Given the description of an element on the screen output the (x, y) to click on. 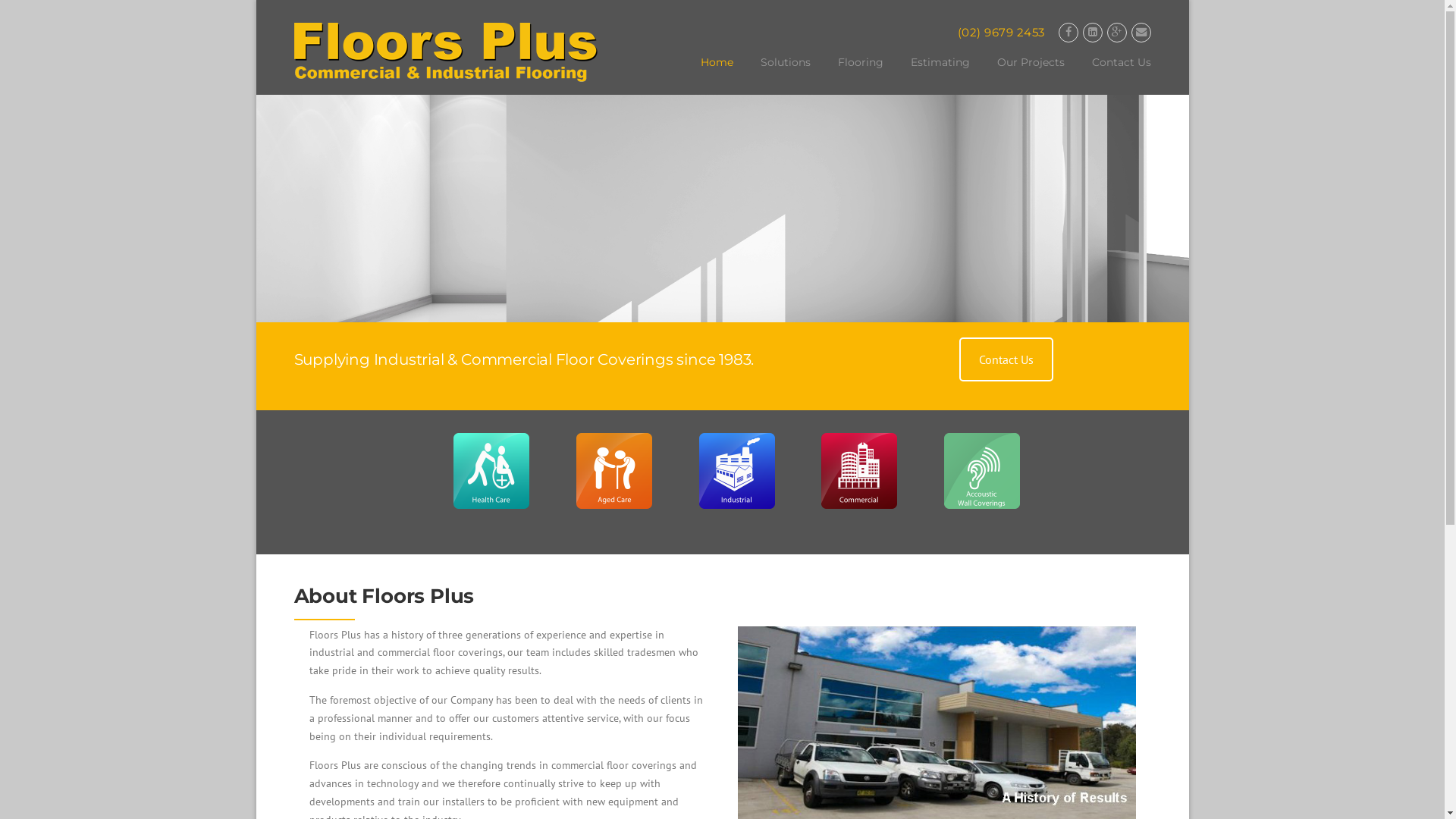
Google Plus Element type: hover (1116, 31)
Commercial-Floor Plus-01 Element type: hover (859, 470)
Our Projects Element type: text (1029, 73)
Estimating Element type: text (939, 73)
Facebook Element type: hover (1068, 31)
Flooring Element type: text (859, 73)
Industrial-Floor Plus-01 Element type: hover (737, 470)
Email Element type: hover (1141, 31)
Contact Us Element type: text (1114, 73)
Solutions Element type: text (784, 73)
Contact Us Element type: text (1006, 359)
Floors Plus Element type: hover (445, 55)
Home Element type: text (716, 73)
accoustics2 Element type: hover (981, 470)
Linkedin Element type: hover (1092, 31)
Aged Care-Floor Plus-01 Element type: hover (614, 470)
Health Care-Floor Plus-01 Element type: hover (491, 470)
